Given the description of an element on the screen output the (x, y) to click on. 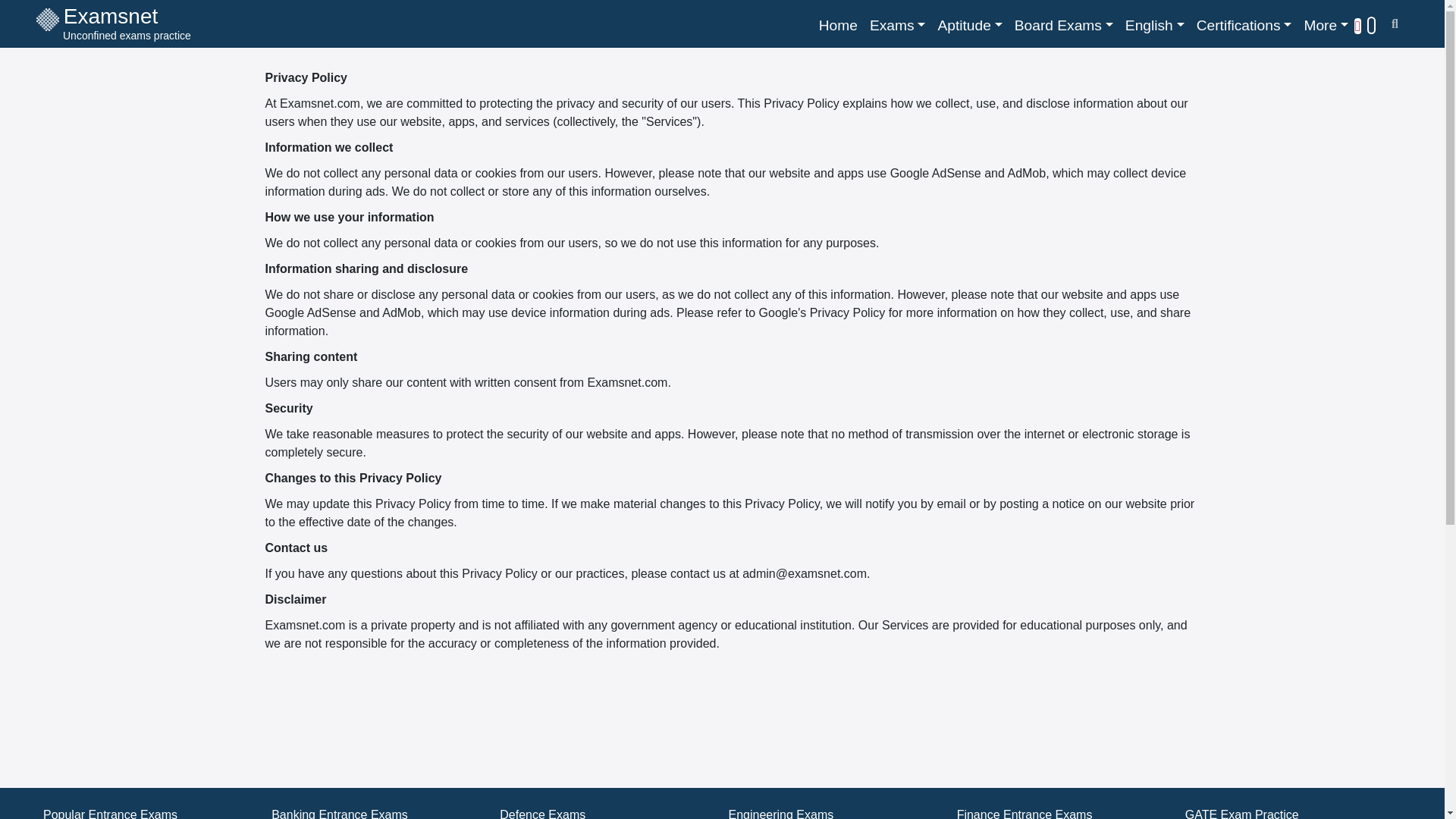
examsnet logo (47, 19)
Exams (897, 26)
English (1155, 26)
More (113, 25)
Examsnet Website (1325, 26)
Board Exams (113, 25)
Home (1064, 26)
Home (837, 26)
Exams (837, 26)
